Given the description of an element on the screen output the (x, y) to click on. 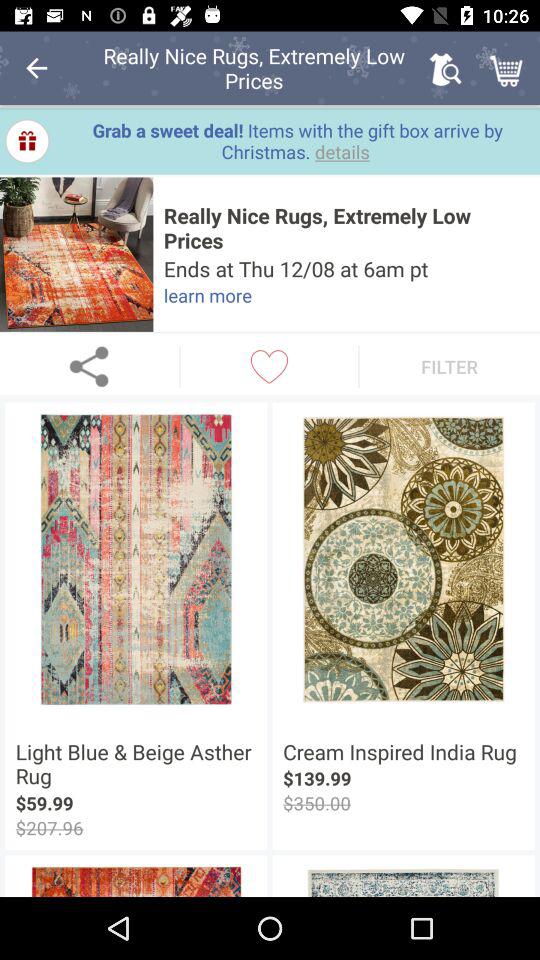
choose icon next to the really nice rugs icon (444, 67)
